Given the description of an element on the screen output the (x, y) to click on. 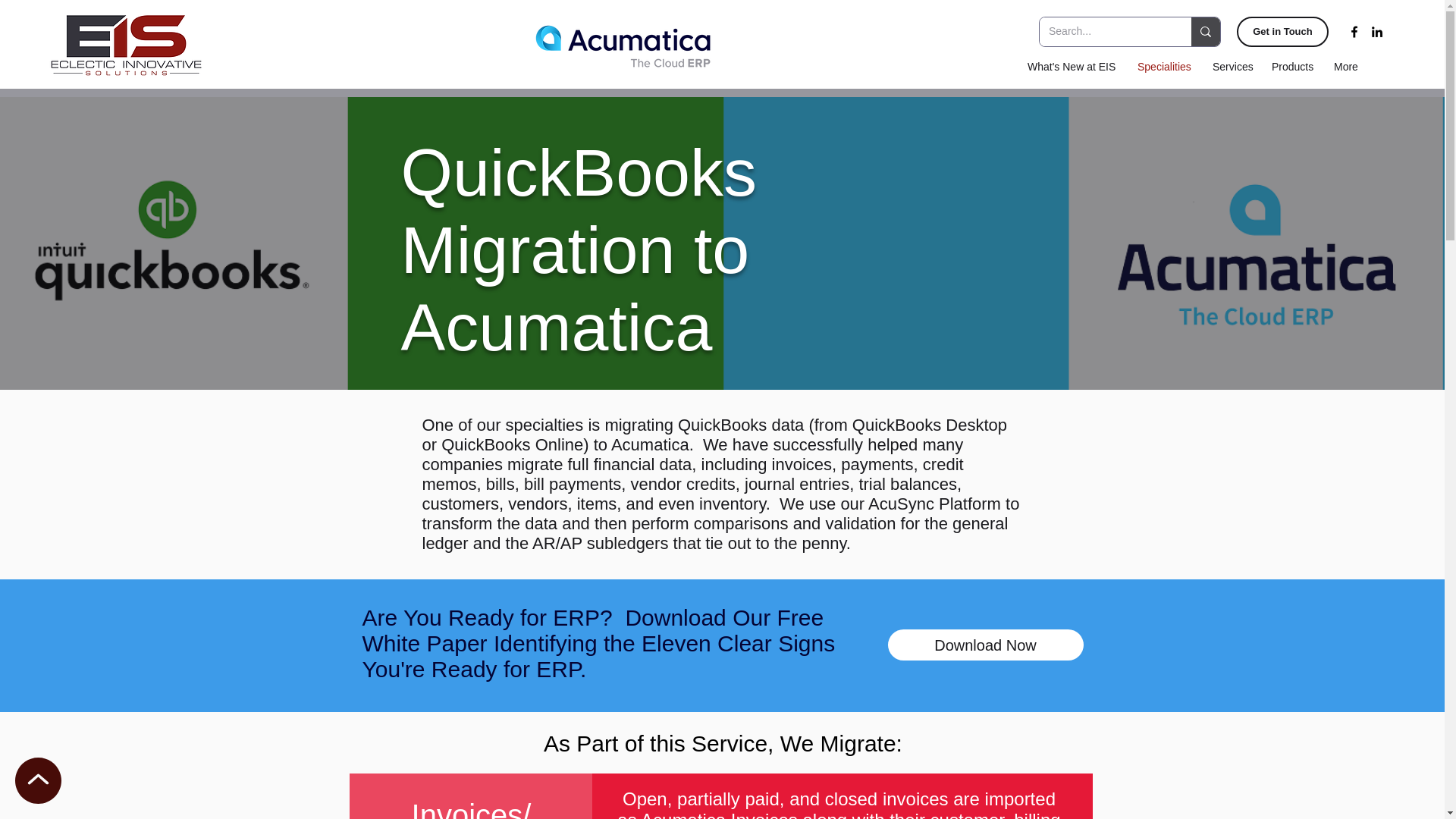
Services (1234, 66)
Get in Touch (1281, 31)
What's New at EIS (1074, 66)
Specialities (1167, 66)
Products (1294, 66)
